Given the description of an element on the screen output the (x, y) to click on. 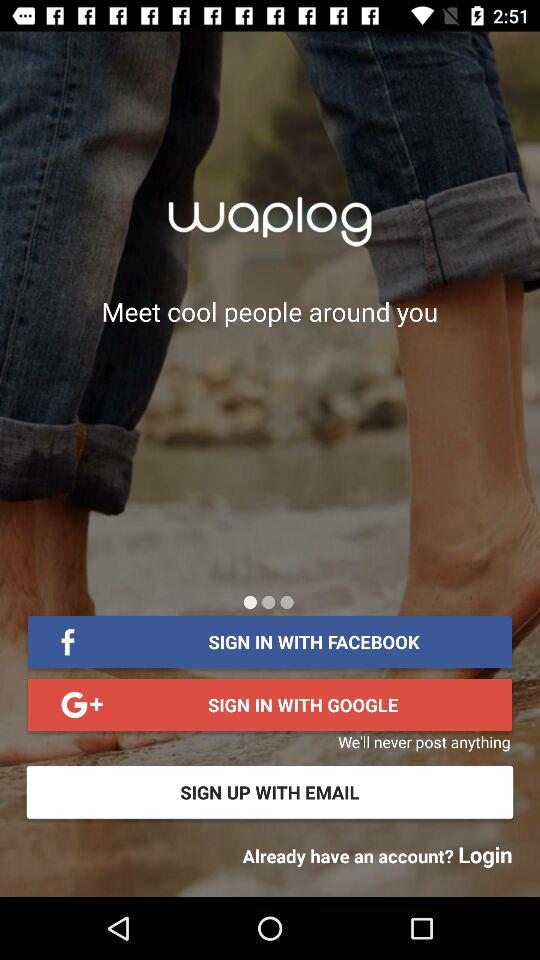
select the last page of this menu (286, 602)
